Given the description of an element on the screen output the (x, y) to click on. 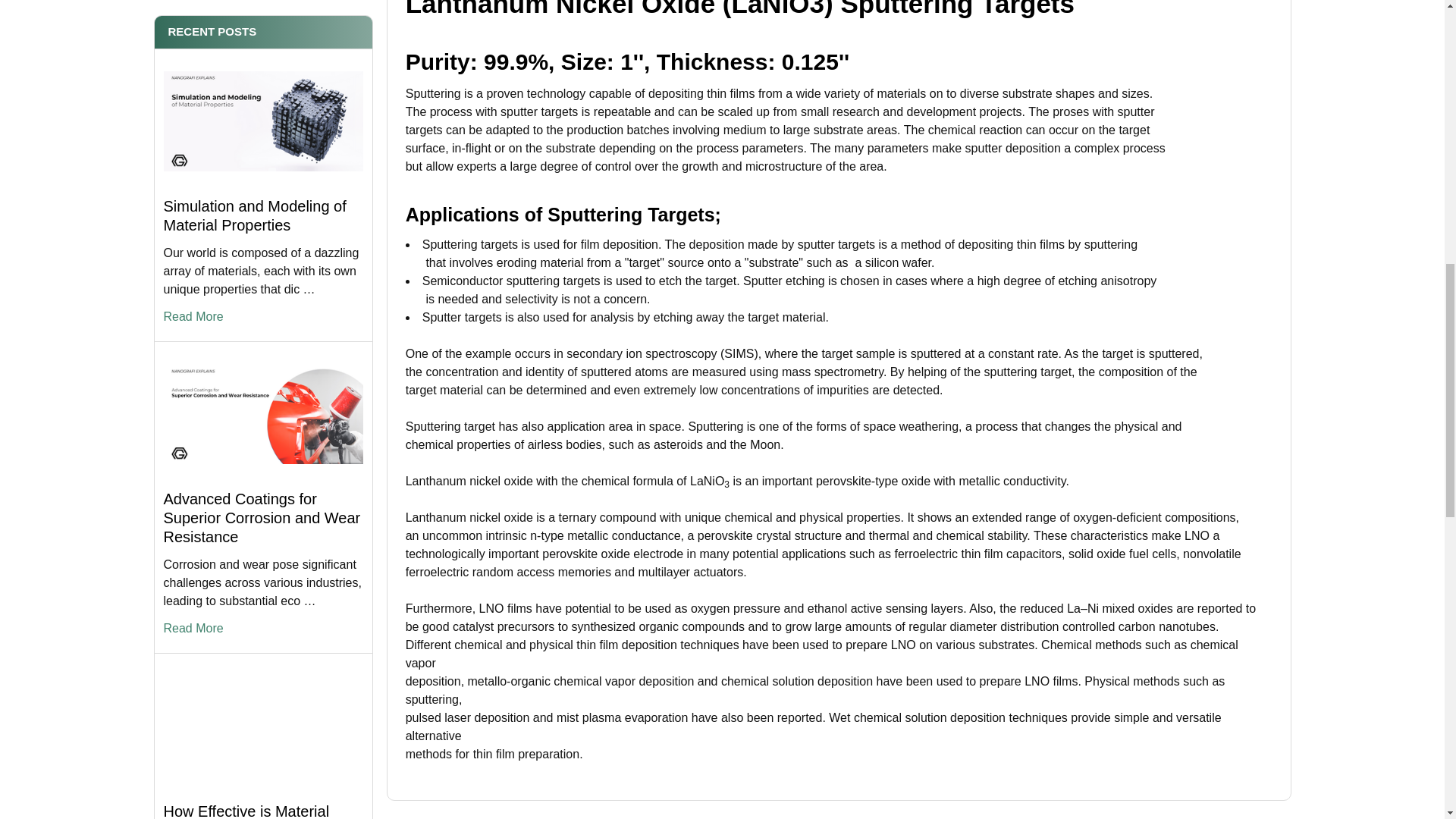
Advanced Coatings for Superior Corrosion and Wear Resistance (262, 414)
Simulation and Modeling of Material Properties (262, 121)
